Given the description of an element on the screen output the (x, y) to click on. 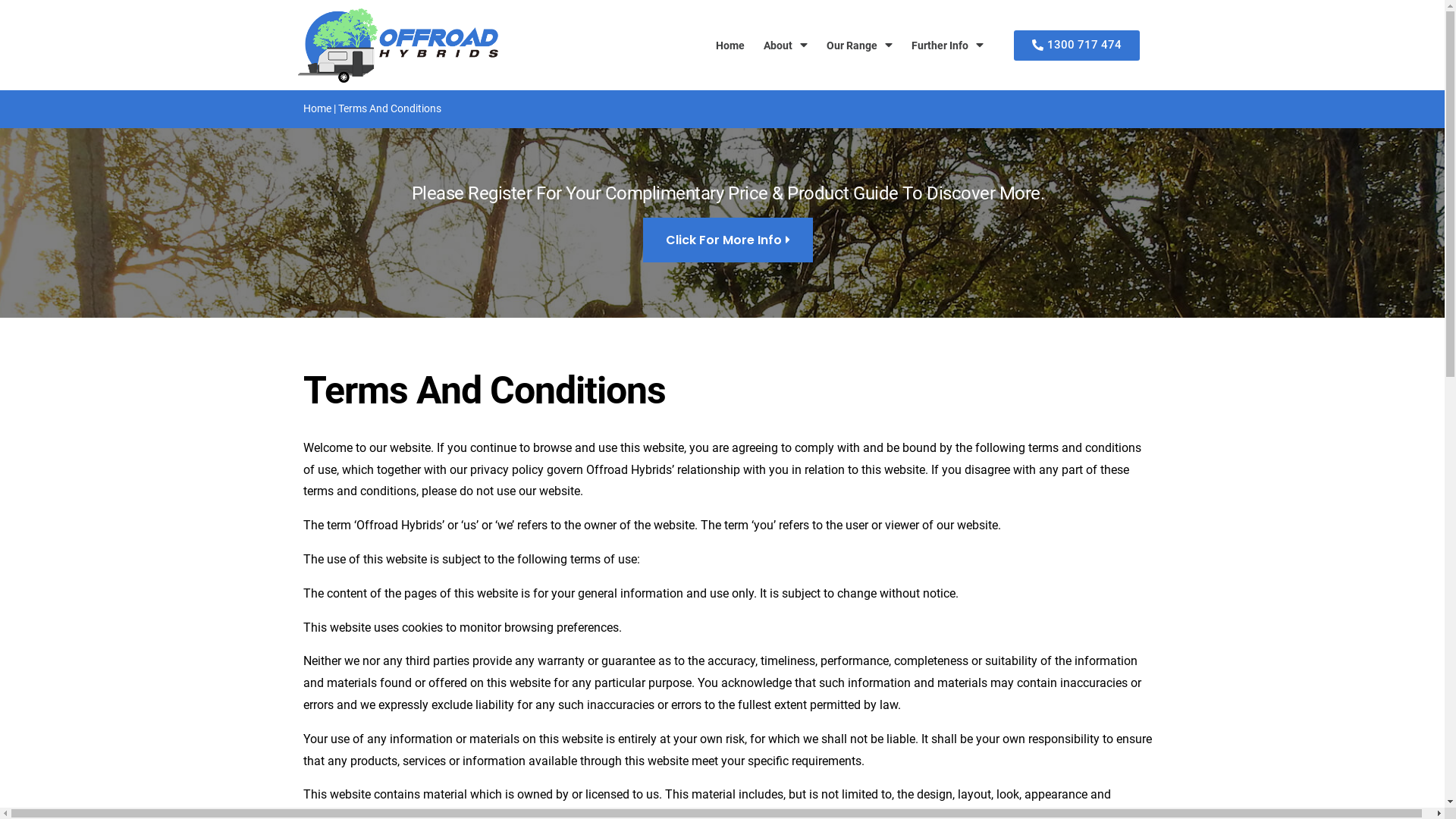
Click For More Info Element type: text (727, 239)
Home Element type: text (317, 108)
About Element type: text (785, 45)
Further Info Element type: text (947, 45)
Home Element type: text (730, 45)
Our Range Element type: text (859, 45)
1300 717 474 Element type: text (1076, 45)
